Given the description of an element on the screen output the (x, y) to click on. 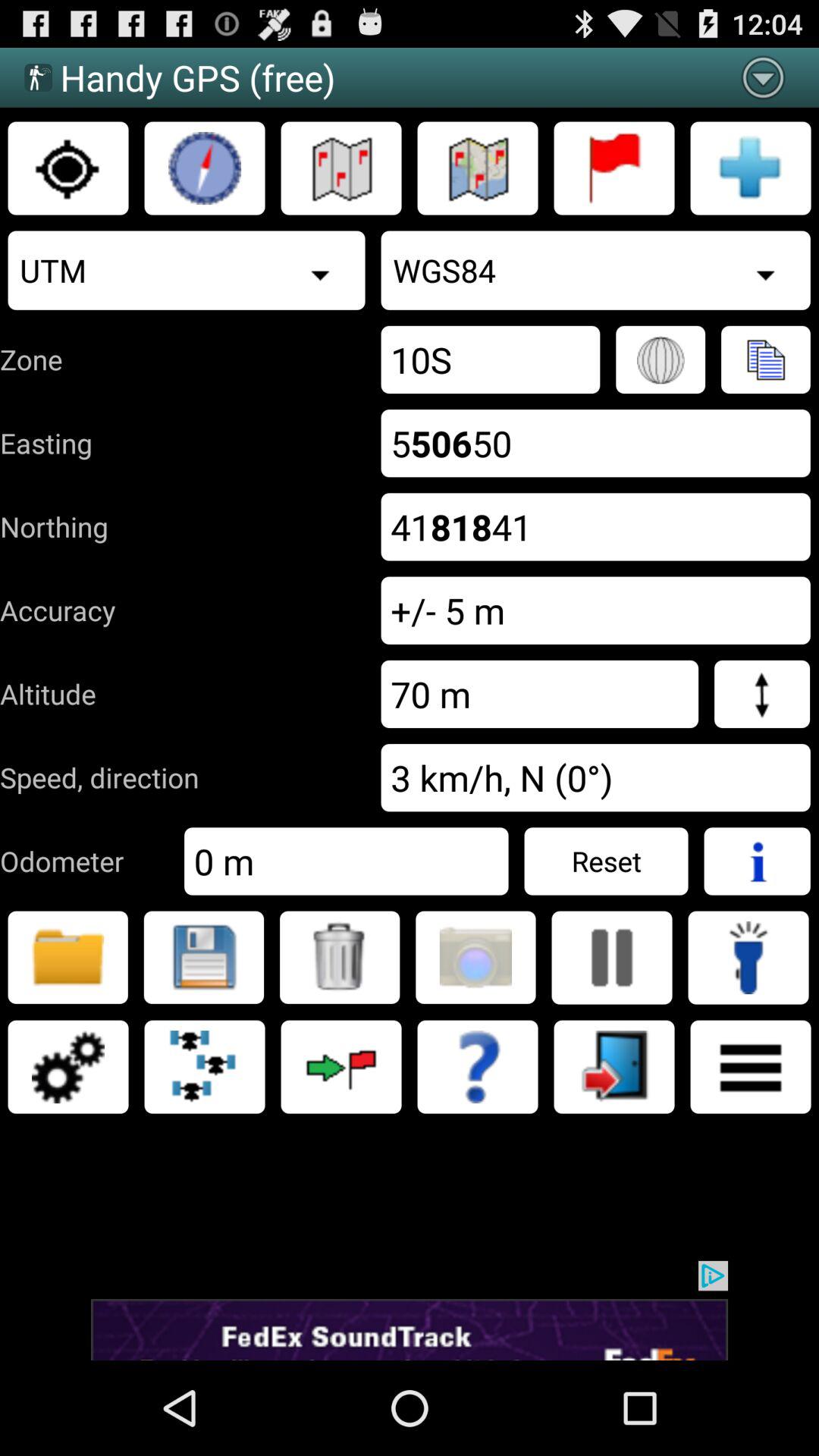
handy gps free (204, 167)
